Given the description of an element on the screen output the (x, y) to click on. 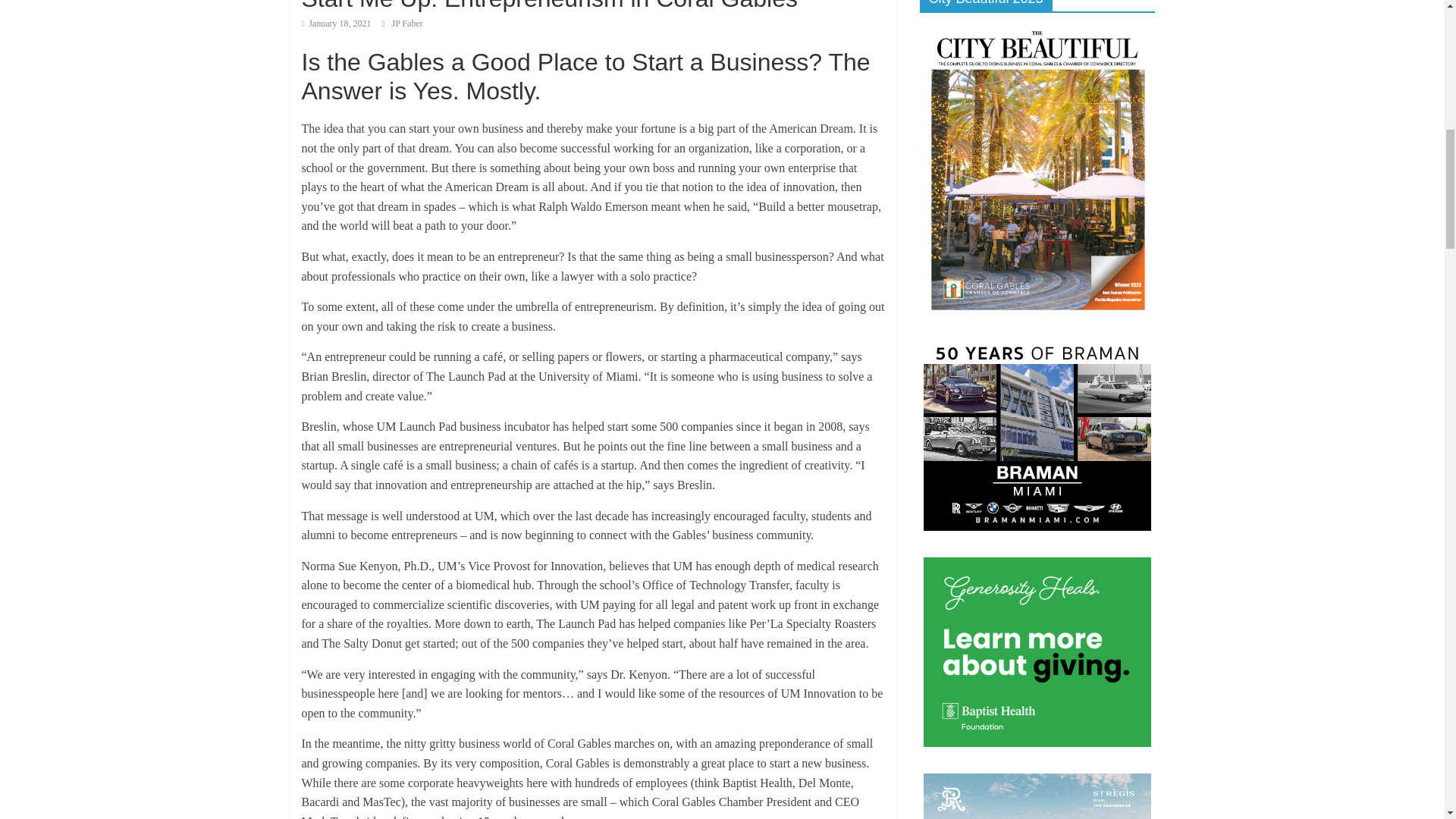
11:30 am (336, 23)
JP Faber (407, 23)
